Given the description of an element on the screen output the (x, y) to click on. 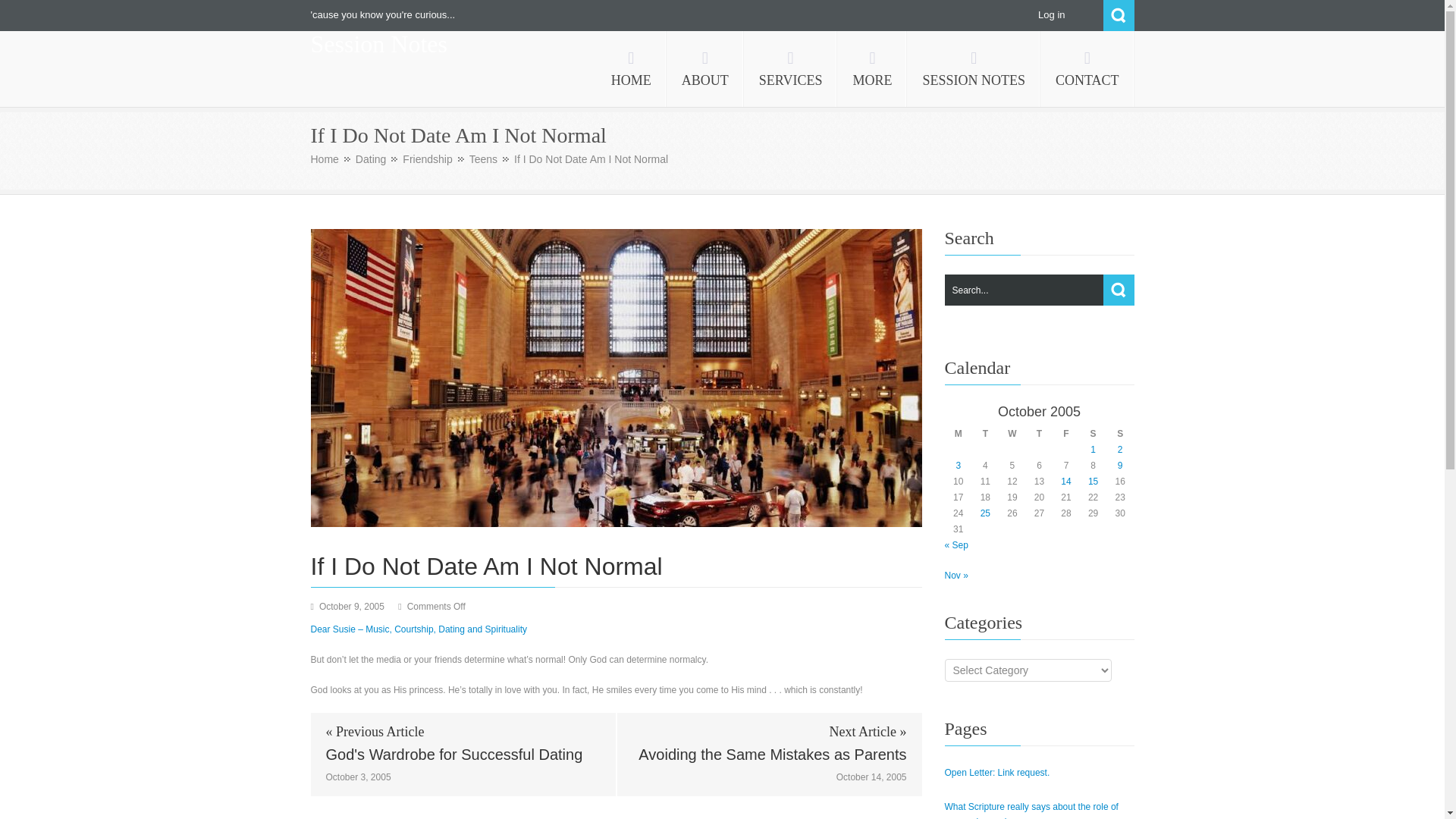
Sunday (1120, 433)
CONTACT (1087, 69)
ABOUT (705, 69)
Search (1118, 15)
Search... (1039, 289)
Thursday (1039, 433)
Session Notes (378, 43)
Friday (1066, 433)
MORE (872, 69)
SESSION NOTES (974, 69)
Monday (957, 433)
HOME (630, 69)
SERVICES (791, 69)
current-menu-item (974, 69)
Log in (1051, 14)
